Given the description of an element on the screen output the (x, y) to click on. 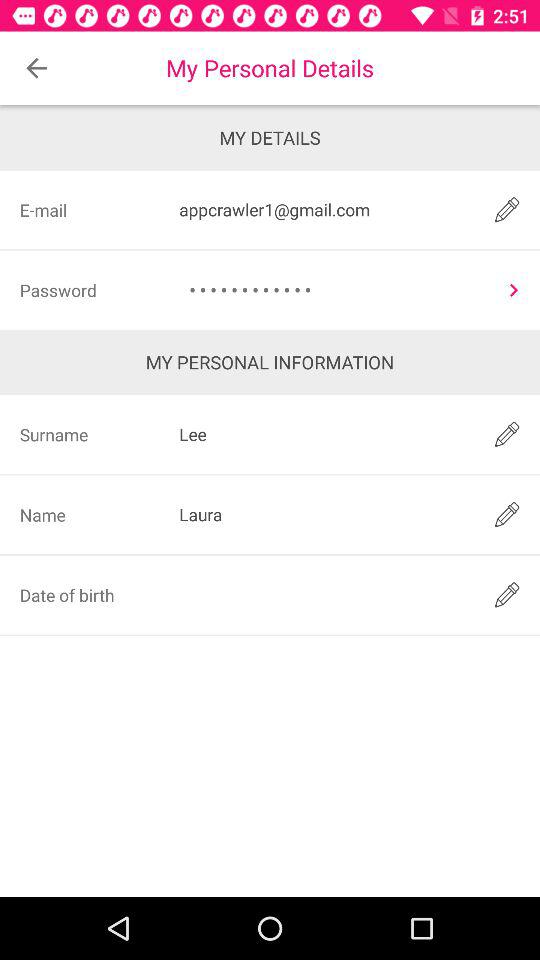
see the password (513, 290)
